Given the description of an element on the screen output the (x, y) to click on. 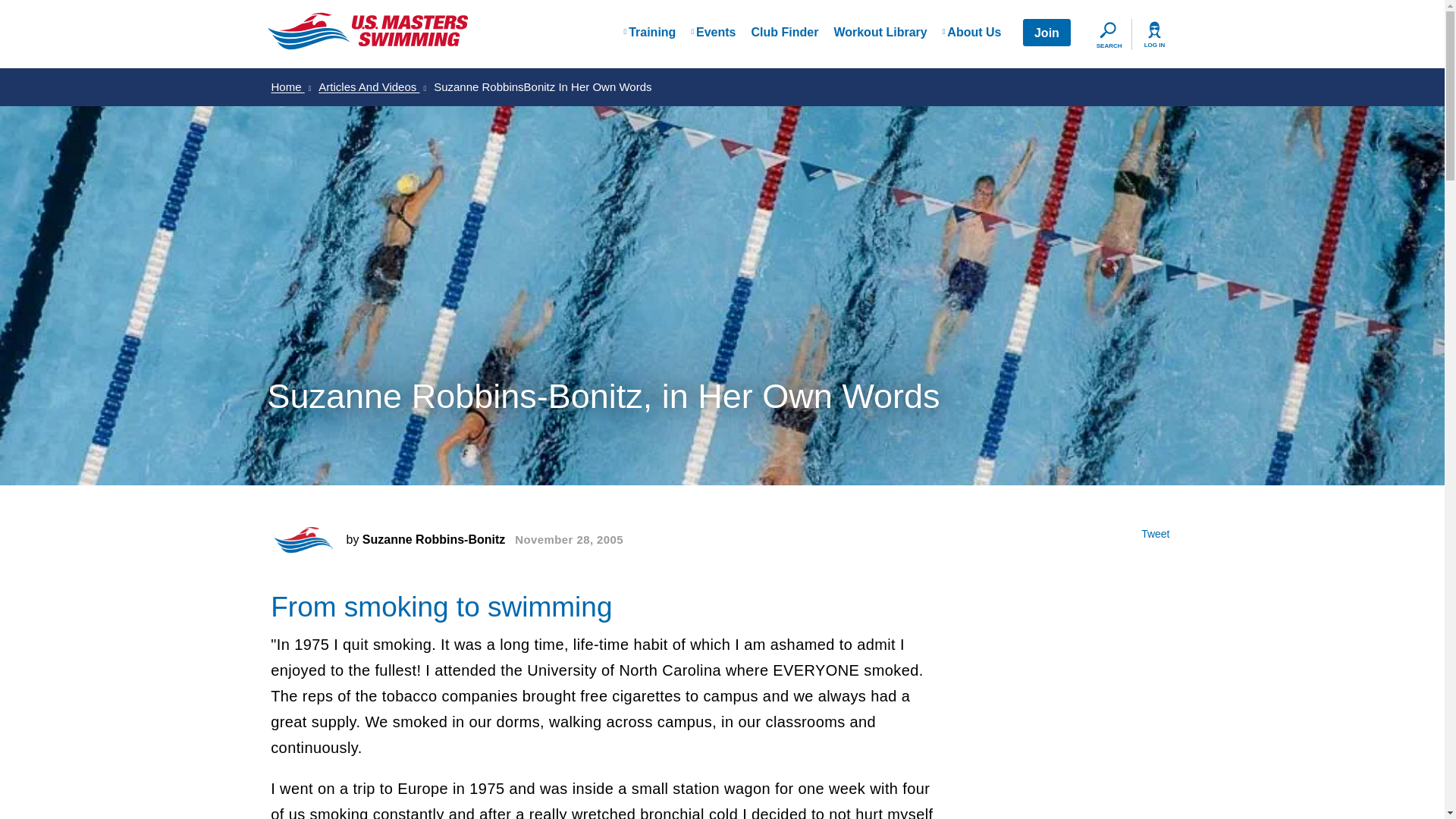
Club Finder (784, 32)
LOG IN (1153, 35)
Articles And Videos (372, 86)
Workout Library (879, 32)
Tweet (1155, 534)
Home (290, 86)
Join (1046, 31)
